Given the description of an element on the screen output the (x, y) to click on. 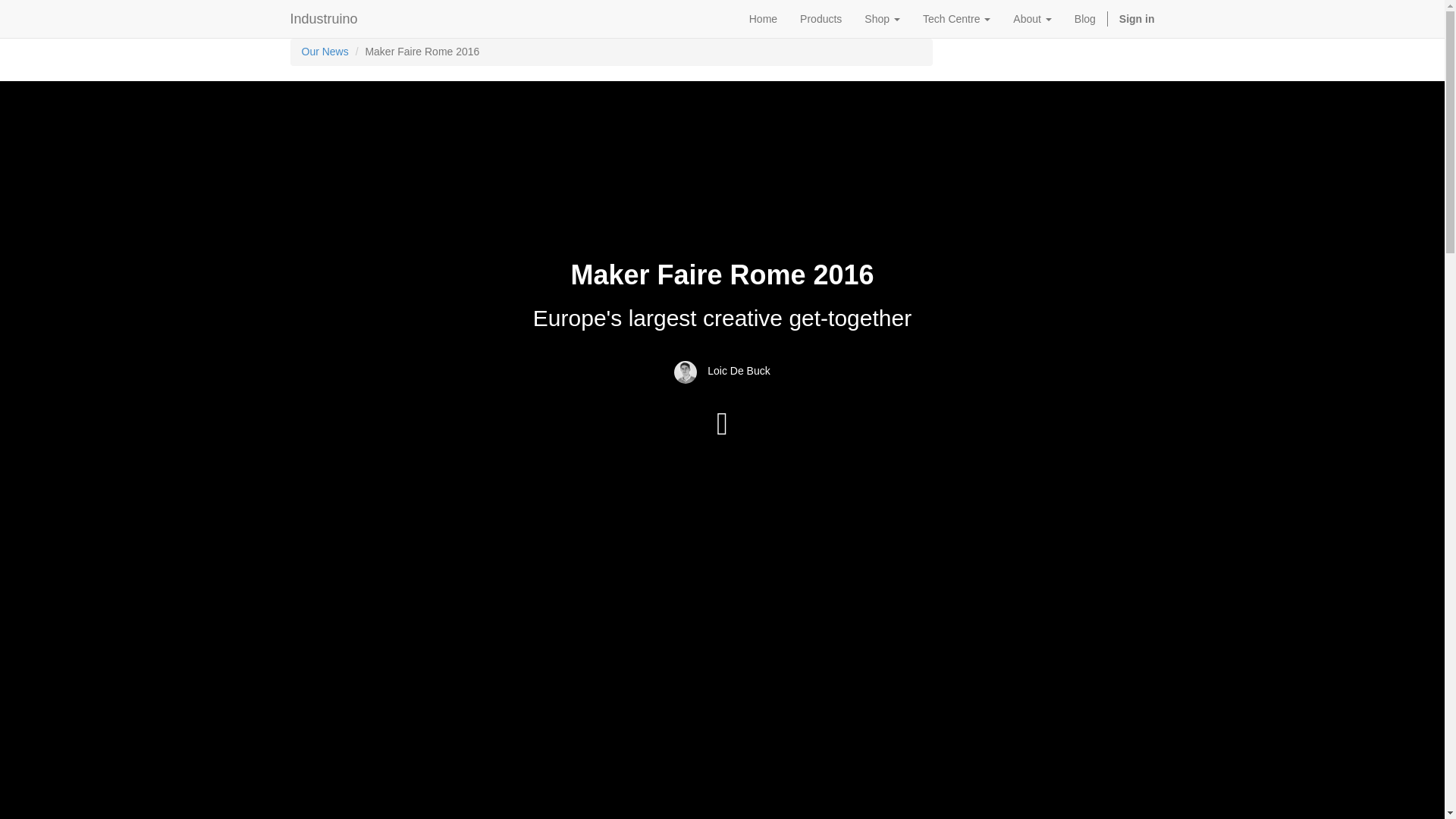
Sign in (1137, 18)
Tech Centre (956, 18)
Industruino (324, 18)
Our News (325, 51)
About (1031, 18)
Home (763, 18)
Shop (882, 18)
Blog (1084, 18)
Products (821, 18)
